Given the description of an element on the screen output the (x, y) to click on. 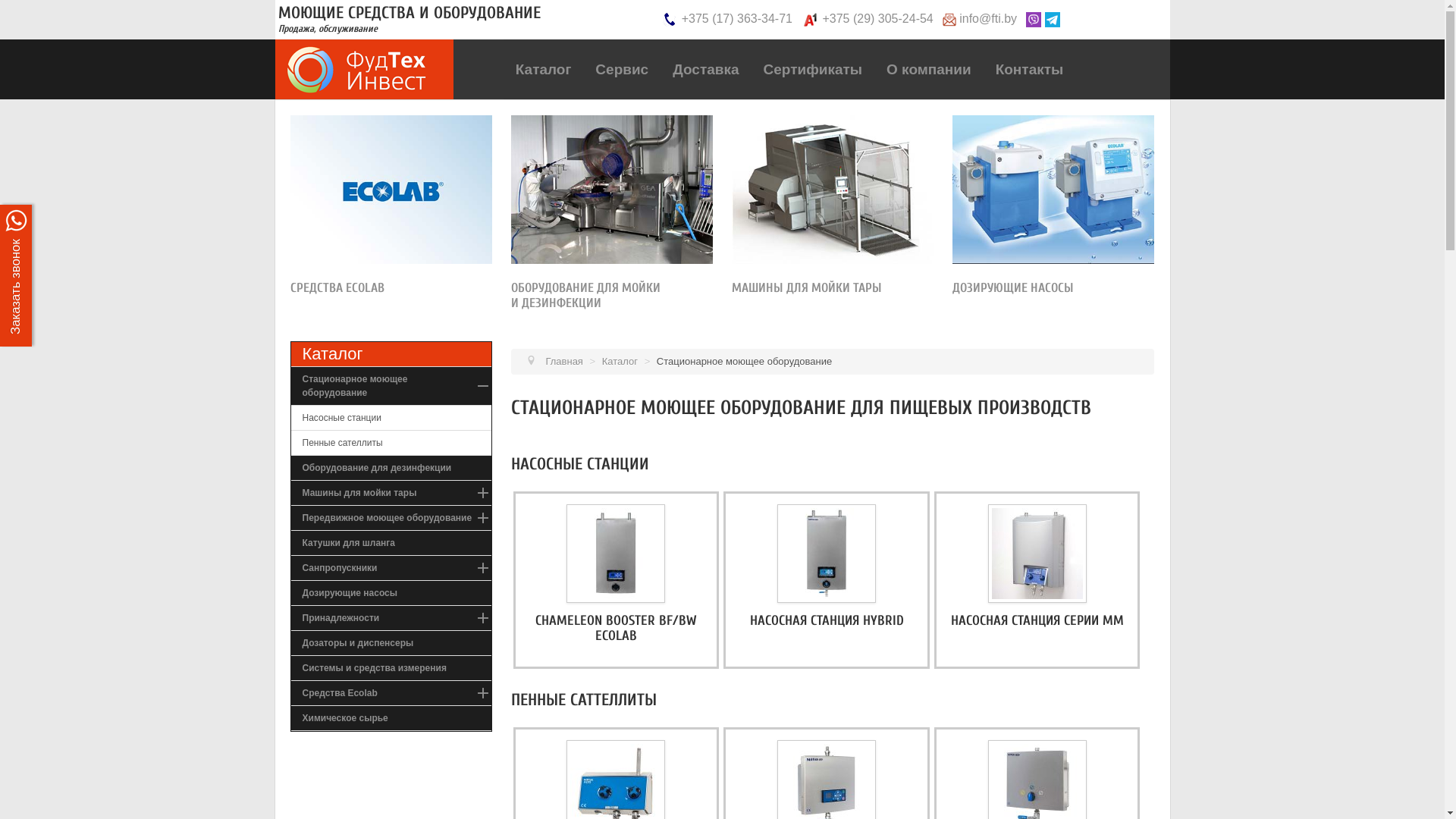
CHAMELEON BOOSTER BF/BW ECOLAB Element type: text (615, 627)
+375 (17) 363-34-71 Element type: text (736, 18)
+375 (29) 305-24-54 Element type: text (877, 18)
info@fti.by Element type: text (987, 18)
